Given the description of an element on the screen output the (x, y) to click on. 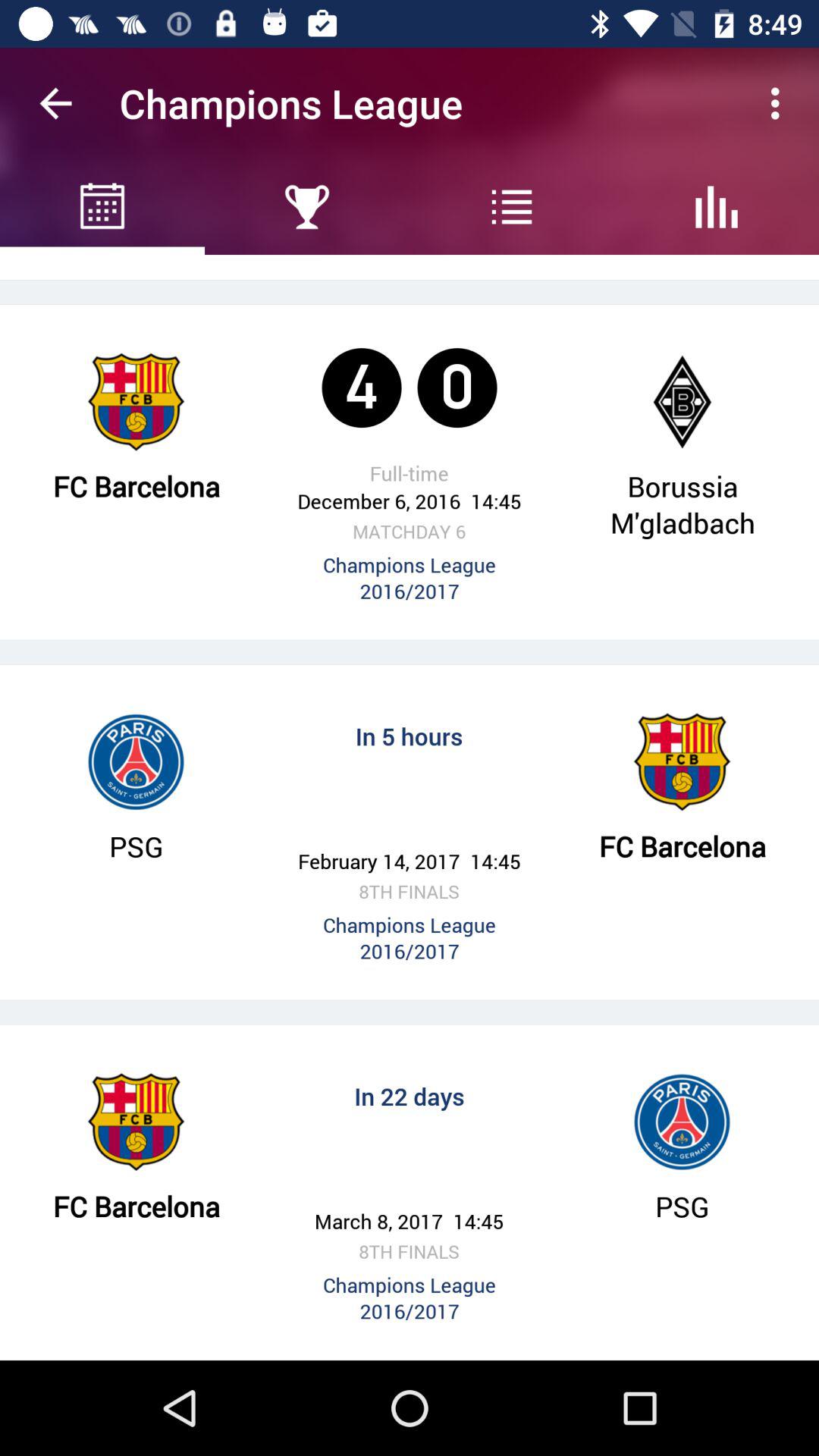
select item to the left of champions league item (55, 103)
